Given the description of an element on the screen output the (x, y) to click on. 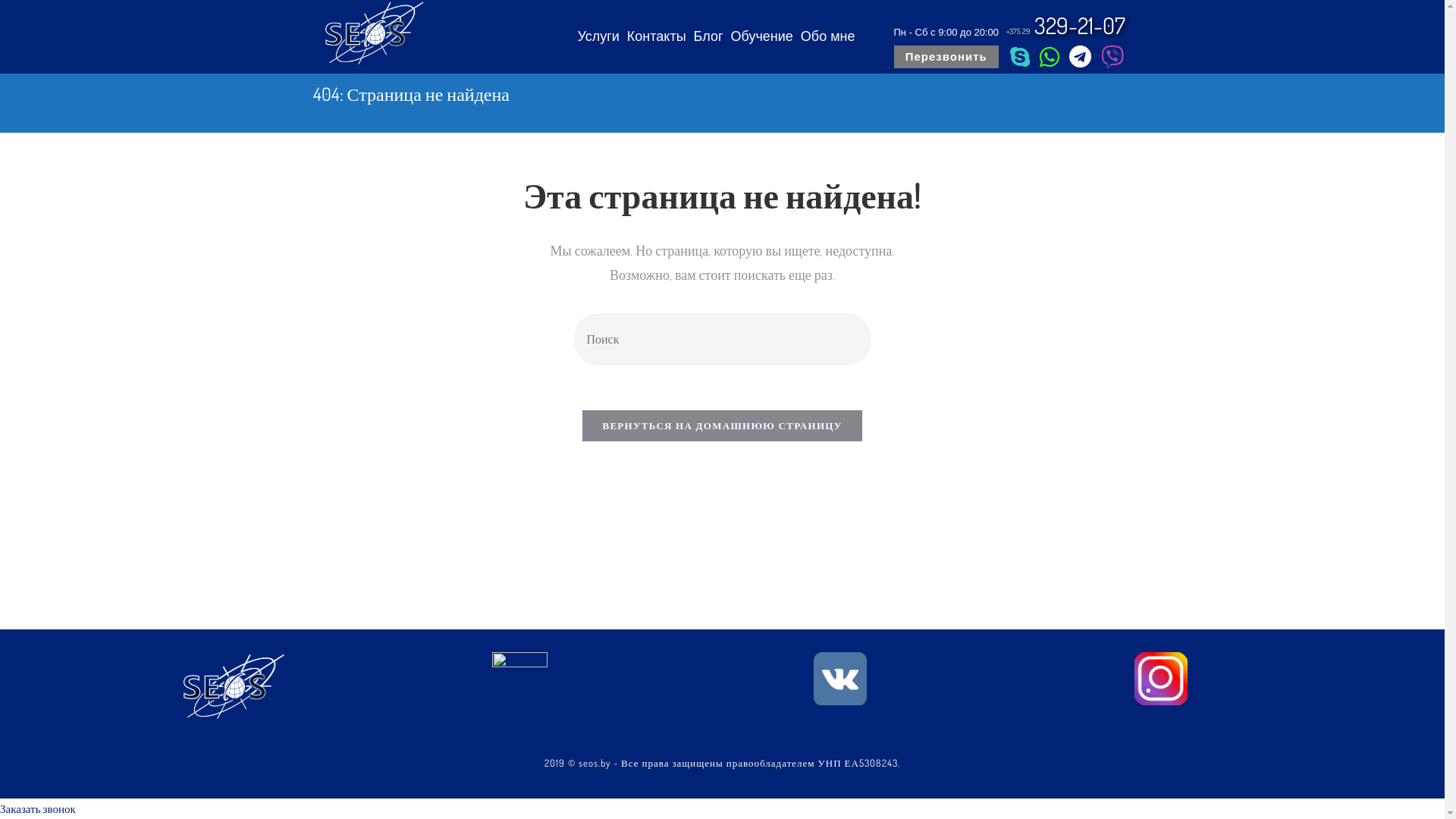
+375 29 329-21-07 Element type: text (1066, 24)
